Given the description of an element on the screen output the (x, y) to click on. 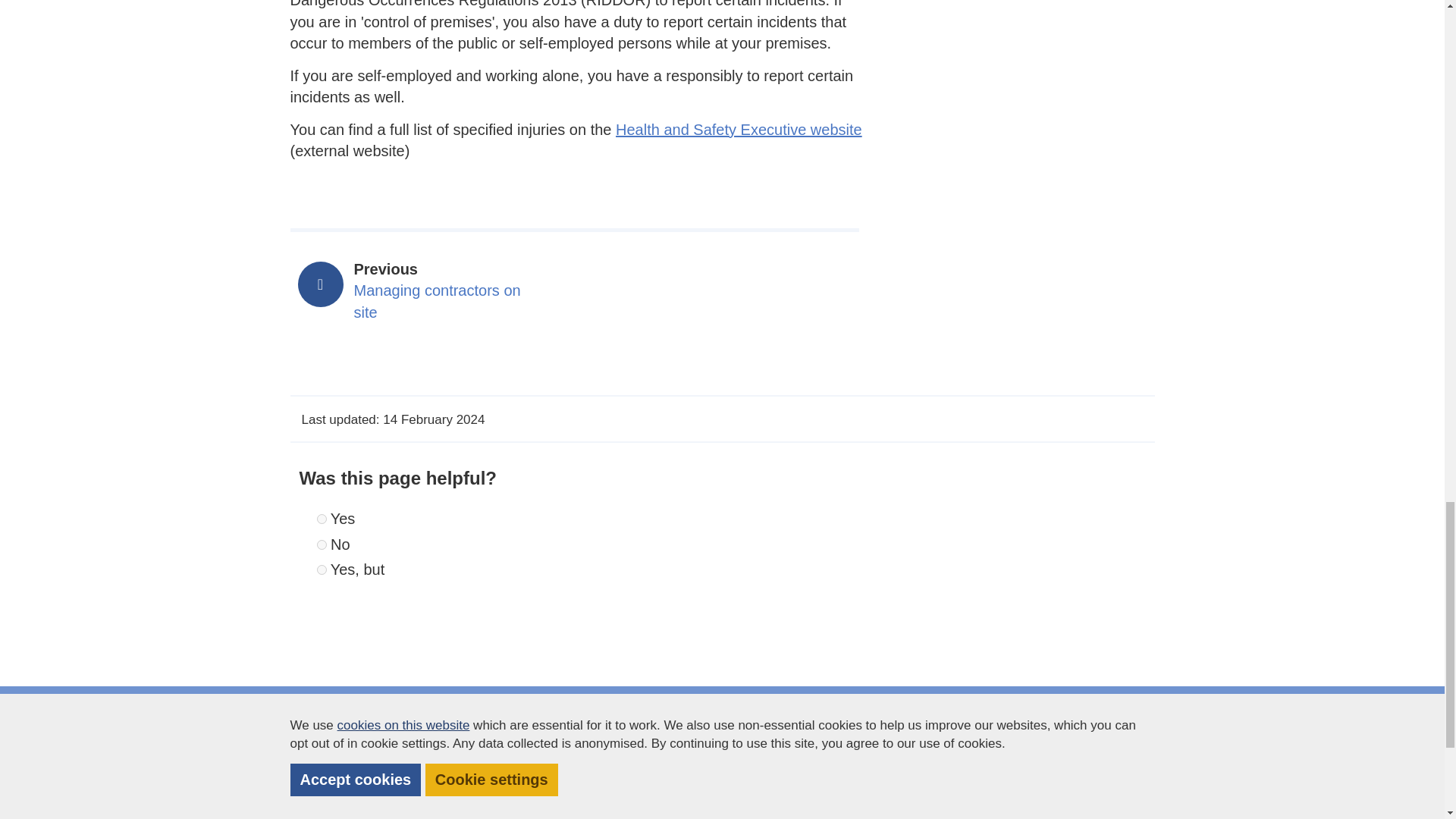
Health and Safety Executive website (738, 129)
No (321, 544)
Return to the homepage (365, 795)
Yes, but (425, 290)
Health and Safety Executive website (321, 569)
Yes (738, 129)
